Given the description of an element on the screen output the (x, y) to click on. 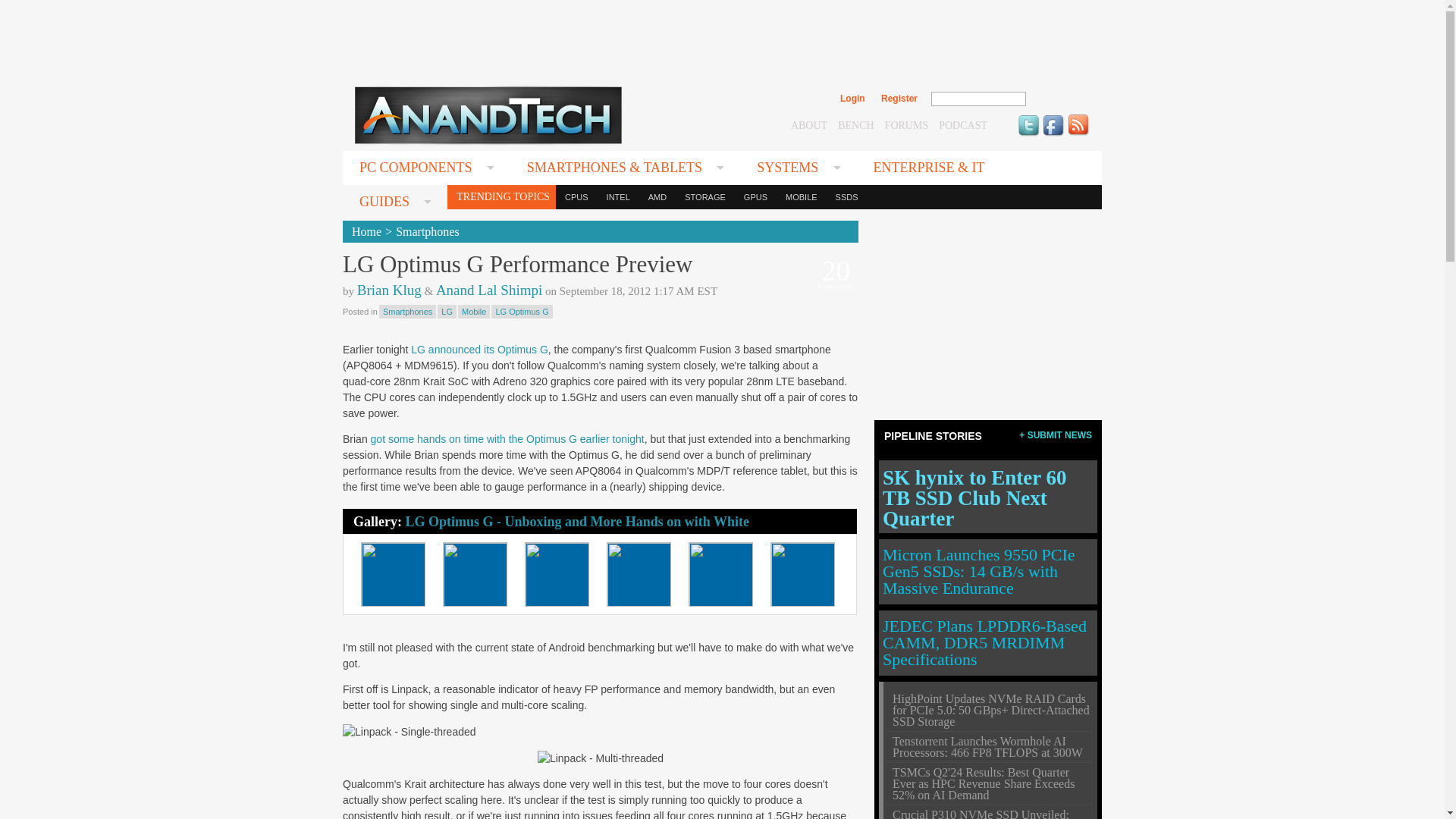
search (1059, 98)
FORUMS (906, 125)
PODCAST (963, 125)
BENCH (855, 125)
Login (852, 98)
ABOUT (808, 125)
search (1059, 98)
Register (898, 98)
search (1059, 98)
